Given the description of an element on the screen output the (x, y) to click on. 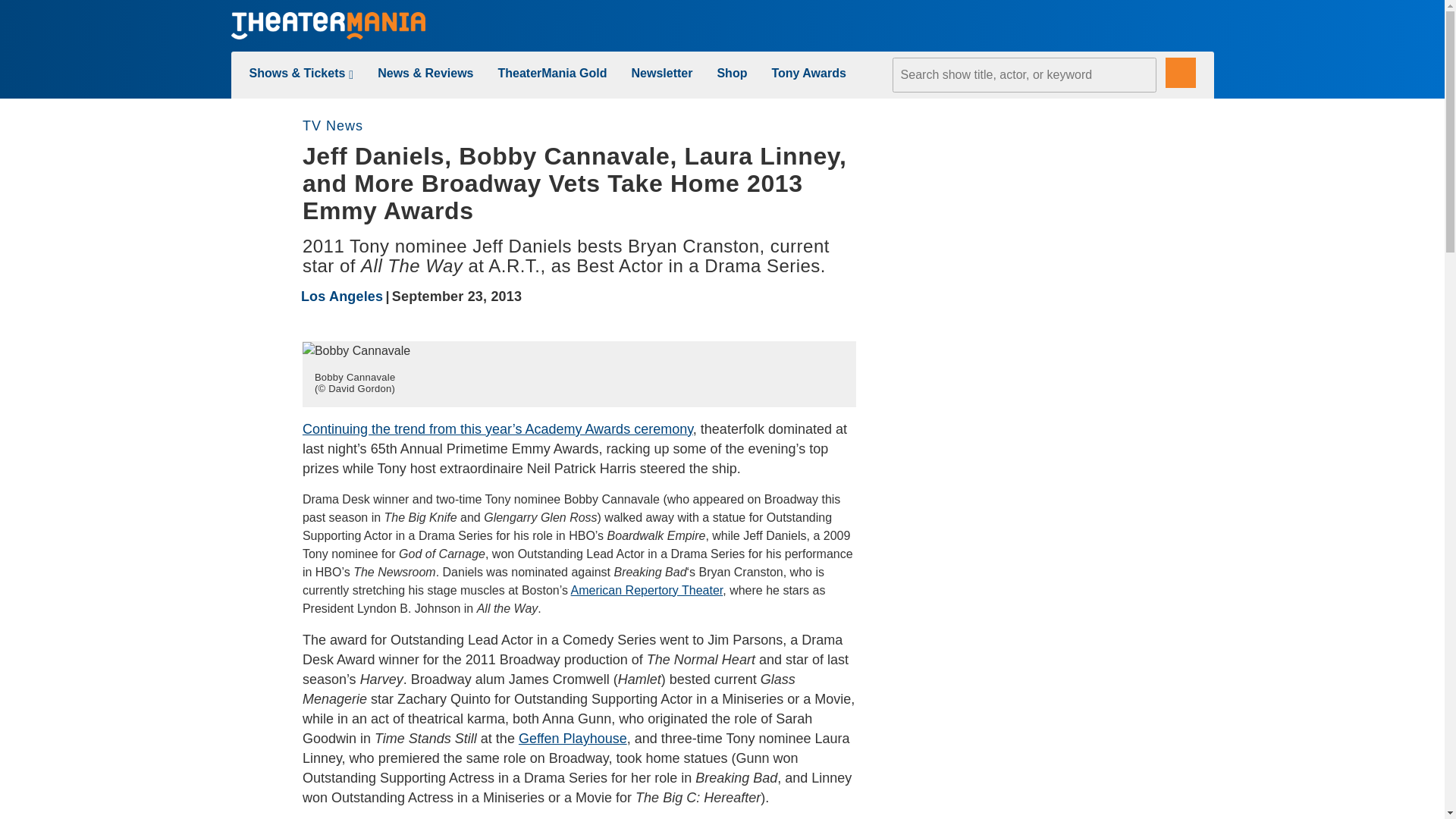
TheaterMania Gold (552, 72)
Newsletter (662, 72)
Shop (731, 72)
Bobby Cannavale (356, 351)
Tony Awards (808, 72)
new-and-reviews-link (425, 72)
